Given the description of an element on the screen output the (x, y) to click on. 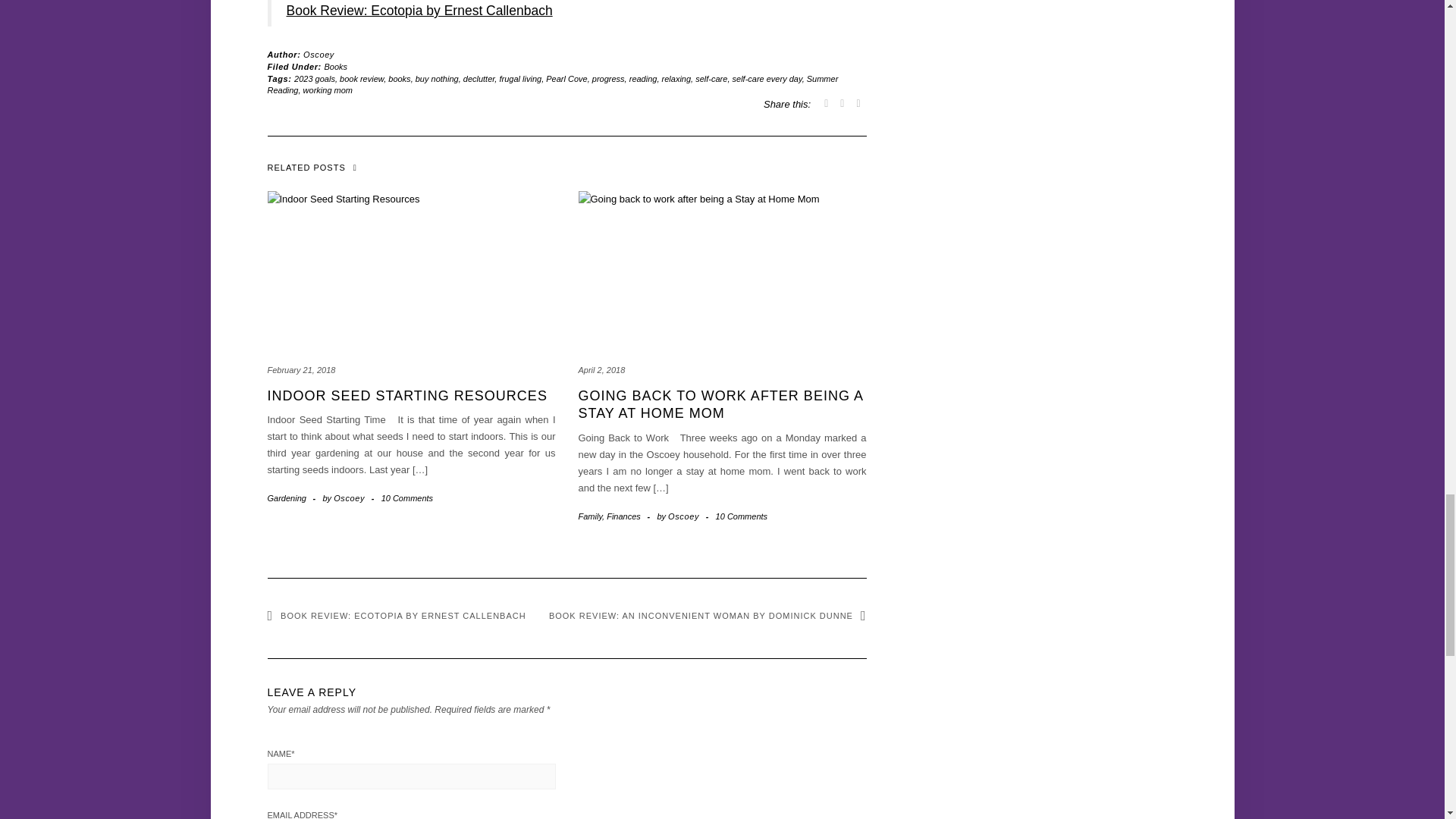
Posts by Oscoey (318, 53)
2023 goals (314, 78)
Book Review: Ecotopia by Ernest Callenbach (419, 10)
Indoor Seed Starting Resources (406, 395)
Oscoey (318, 53)
Going back to work after being a Stay at Home Mom (719, 404)
Books (335, 66)
